Given the description of an element on the screen output the (x, y) to click on. 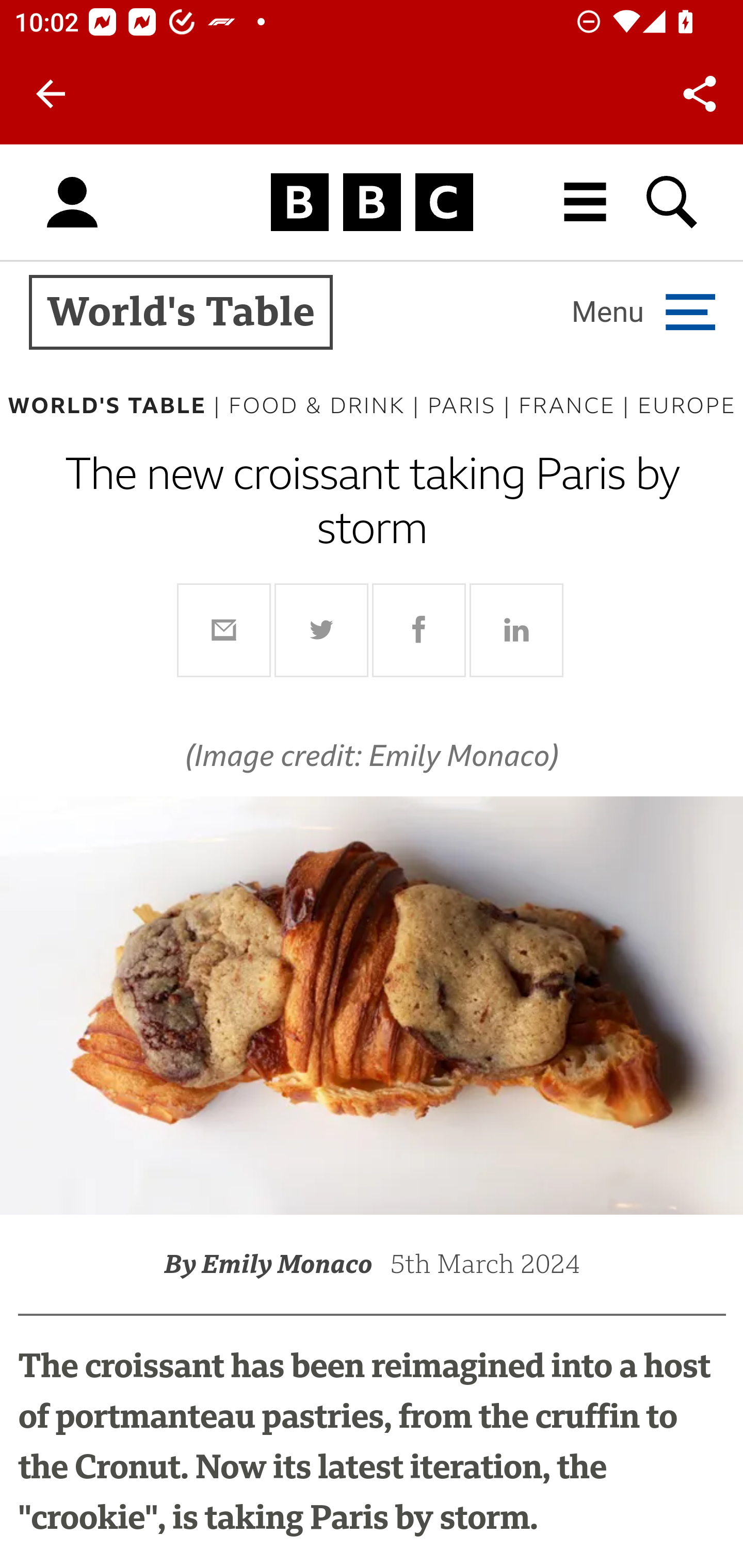
Back (50, 93)
Share (699, 93)
All BBC destinations menu (585, 202)
Search BBC (672, 202)
Sign in (71, 203)
Homepage (371, 203)
Open more navigation (643, 311)
World's Table (180, 312)
WORLD'S TABLE |  WORLD'S TABLE  |  (117, 405)
FOOD & DRINK |  FOOD & DRINK  |  (327, 405)
PARIS |  PARIS  |  (473, 405)
FRANCE |  FRANCE  |  (577, 405)
EUROPE (686, 405)
 Share using Email  Share using Email (223, 629)
 Share on Twitter  Share on Twitter (322, 629)
 Share on Facebook  Share on Facebook (418, 629)
 Share on Linkedin  Share on Linkedin (516, 629)
By Emily Monaco (276, 1263)
